Given the description of an element on the screen output the (x, y) to click on. 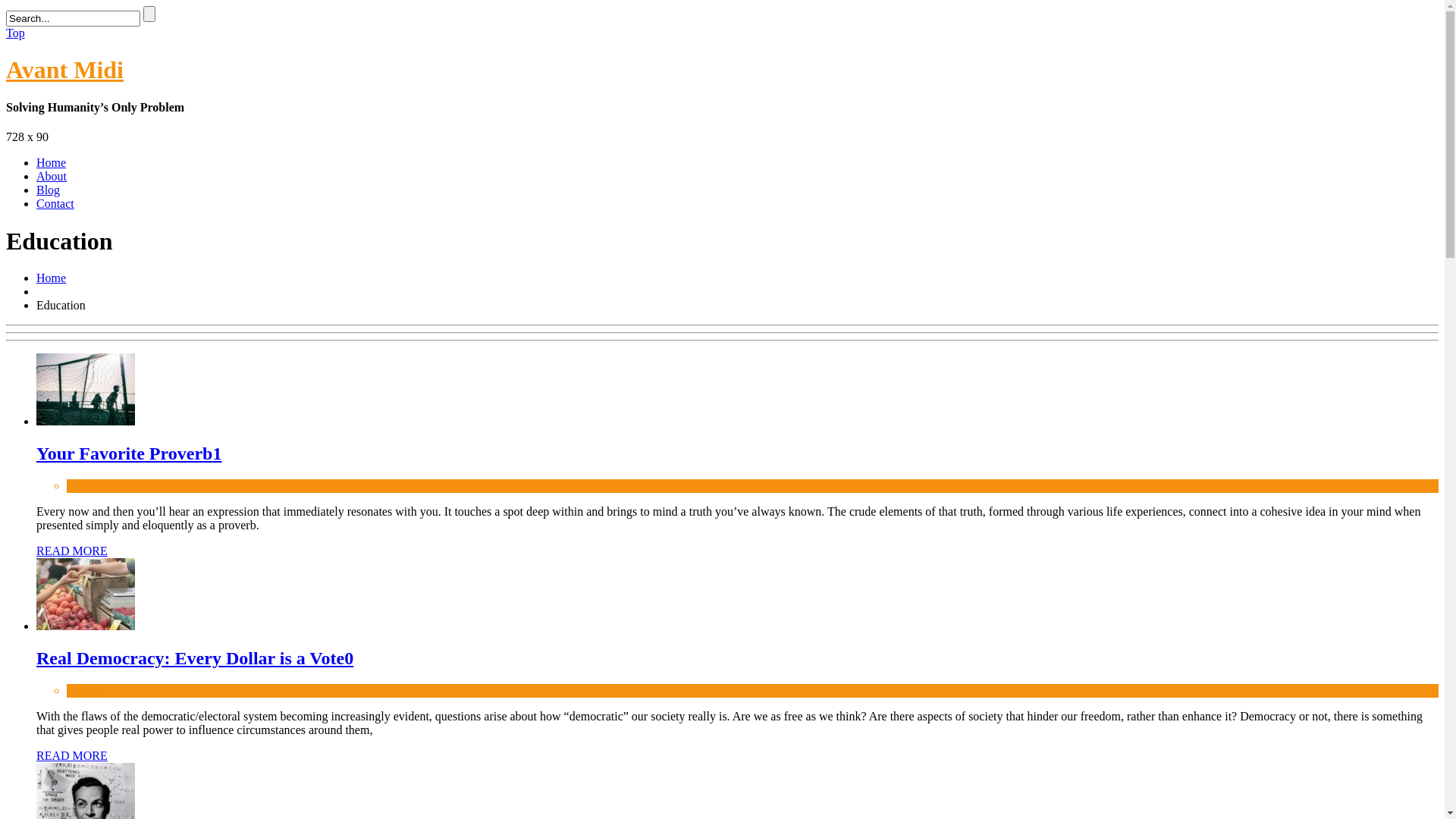
Your Favorite Proverb Element type: hover (85, 420)
READ MORE Element type: text (71, 755)
Contact Element type: text (55, 203)
1 Element type: text (216, 453)
Education Element type: text (91, 485)
Society Element type: text (84, 690)
Top Element type: text (15, 32)
About Element type: text (51, 175)
Home Element type: text (50, 277)
Your Favorite Proverb Element type: text (124, 453)
Real Democracy: Every Dollar is a Vote Element type: hover (85, 625)
READ MORE Element type: text (71, 550)
Avant Midi Element type: text (64, 69)
Real Democracy: Every Dollar is a Vote Element type: text (190, 658)
Blog Element type: text (47, 189)
0 Element type: text (348, 658)
Home Element type: text (50, 162)
